Given the description of an element on the screen output the (x, y) to click on. 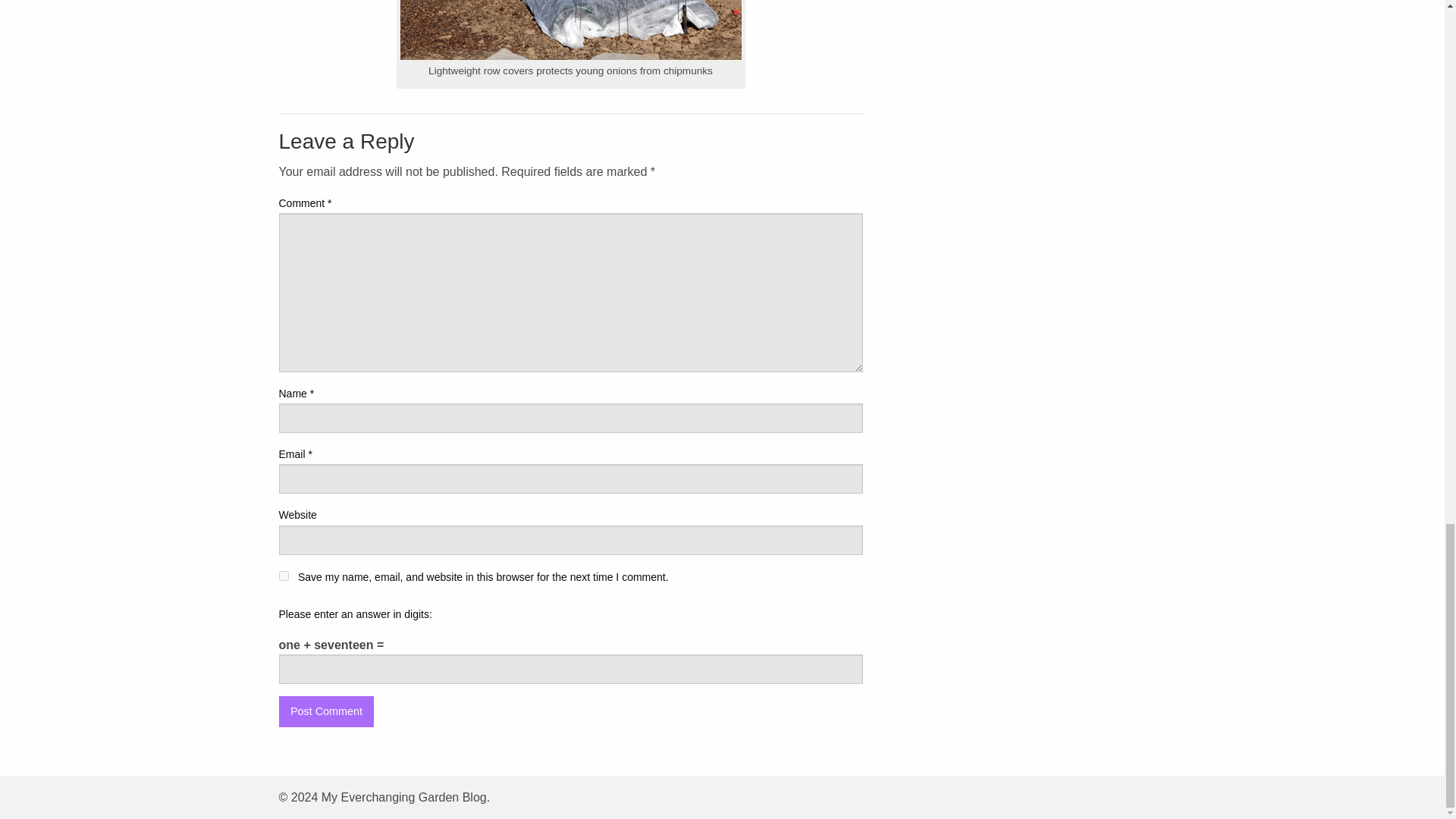
Post Comment (326, 711)
row-cover-onions (570, 29)
yes (283, 575)
Post Comment (326, 711)
